Given the description of an element on the screen output the (x, y) to click on. 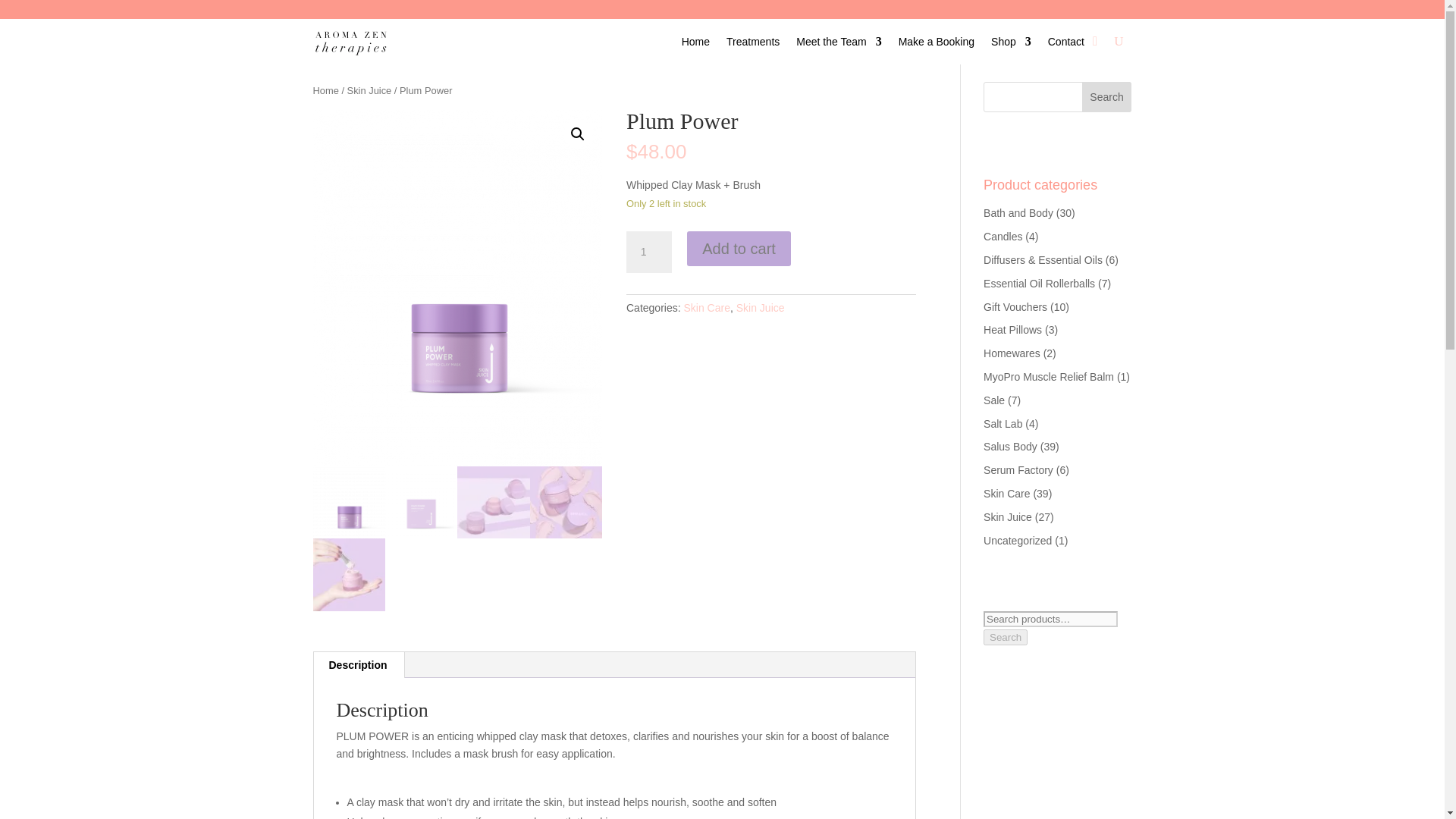
Meet the Team (838, 44)
1 (648, 251)
Search (1106, 96)
Home (325, 90)
Treatments (752, 44)
Contact (1066, 44)
Home (695, 44)
Make a Booking (936, 44)
Shop (1010, 44)
